Given the description of an element on the screen output the (x, y) to click on. 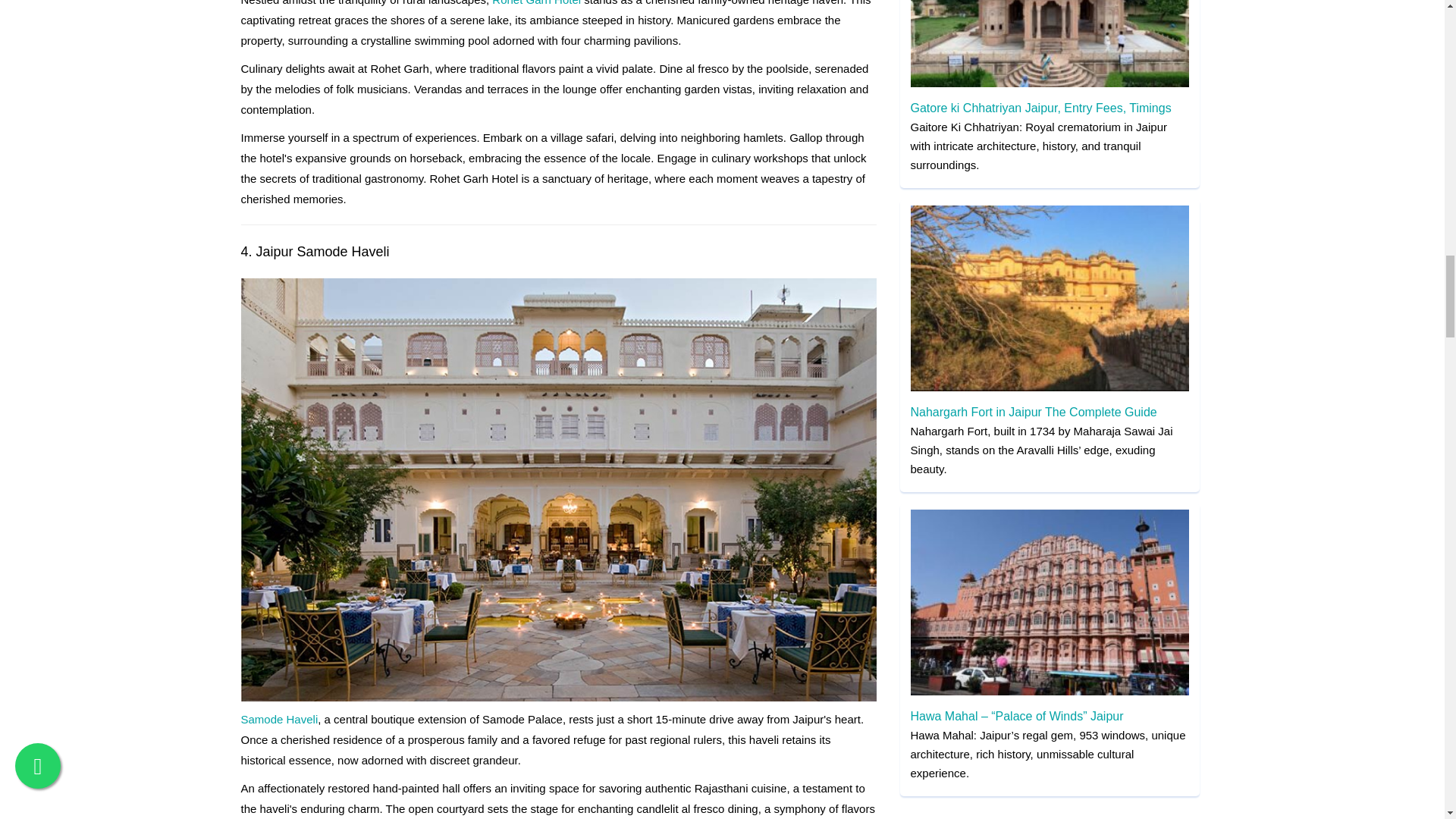
Rohet Garh Hotel (536, 2)
Samode Haveli (279, 718)
